Given the description of an element on the screen output the (x, y) to click on. 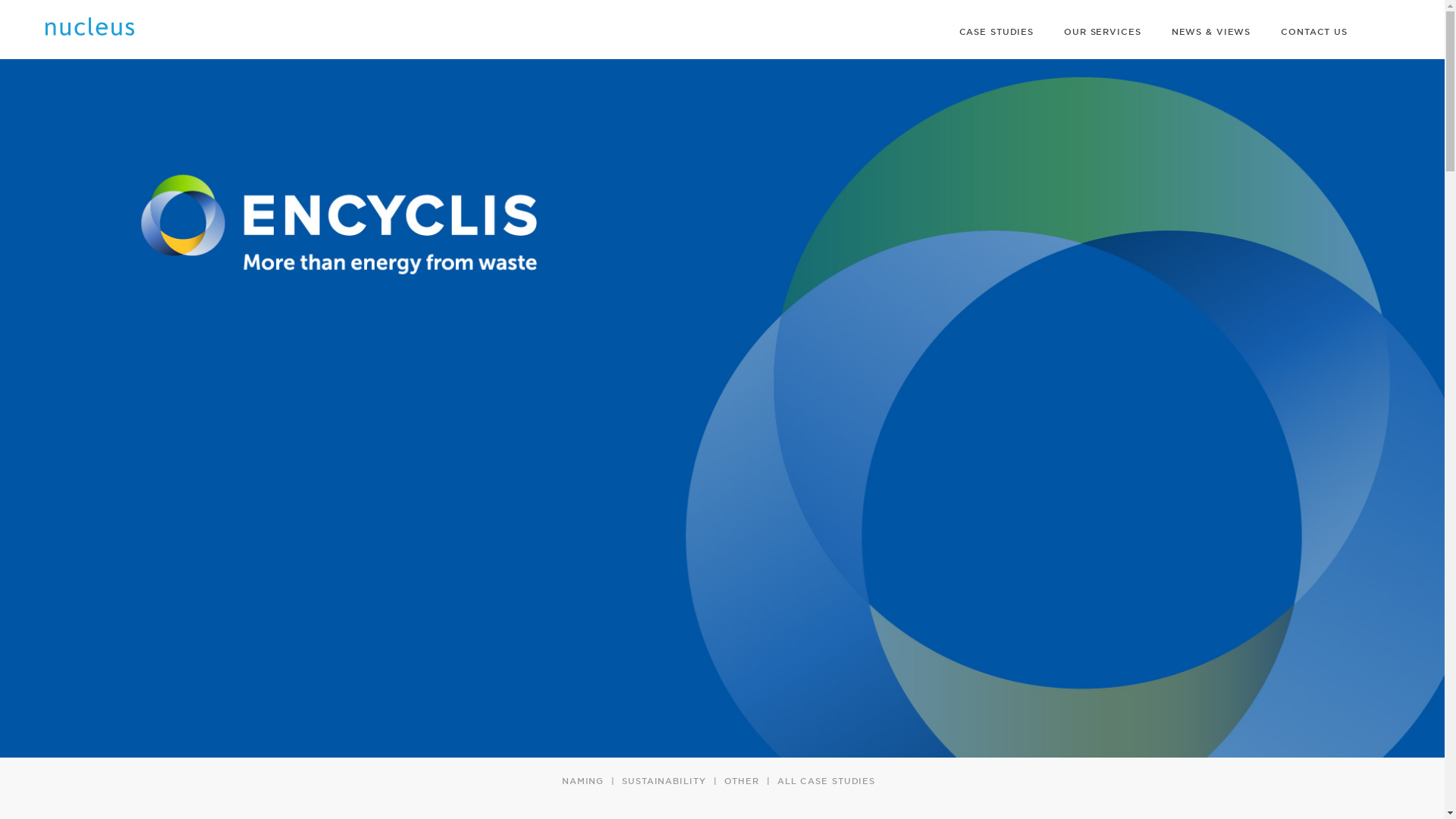
OUR SERVICES (1102, 31)
SUSTAINABILITY (662, 780)
OTHER (740, 780)
CONTACT US (1313, 31)
CASE STUDIES (995, 31)
ALL CASE STUDIES (826, 780)
NAMING (583, 780)
